Given the description of an element on the screen output the (x, y) to click on. 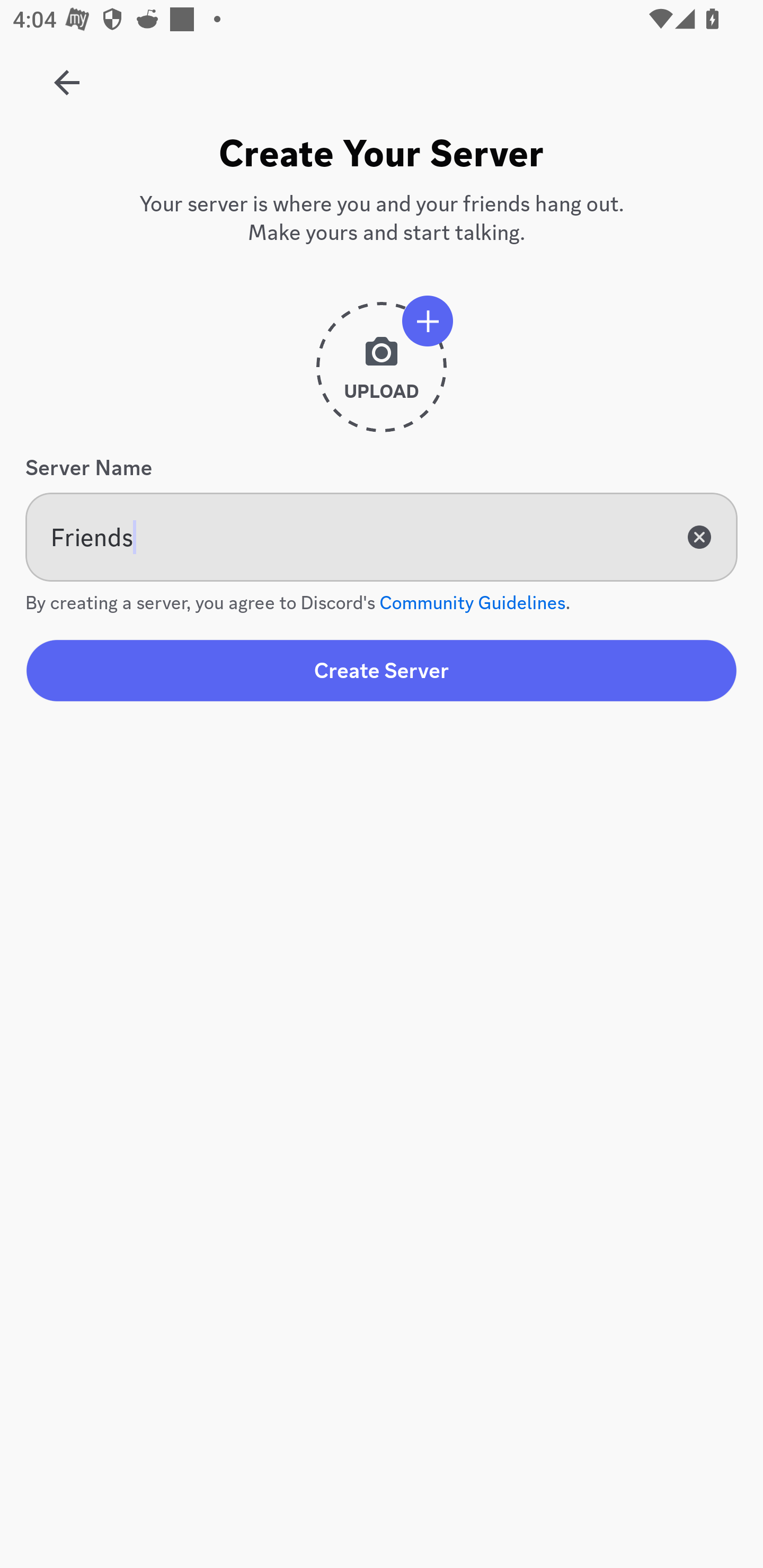
  Study Group Sunday 5PM SGS5 (66, 75)
Search (373, 165)
Upload Image UPLOAD (381, 373)
Friends (381, 536)
Clear (698, 536)
Create Server (381, 670)
